Given the description of an element on the screen output the (x, y) to click on. 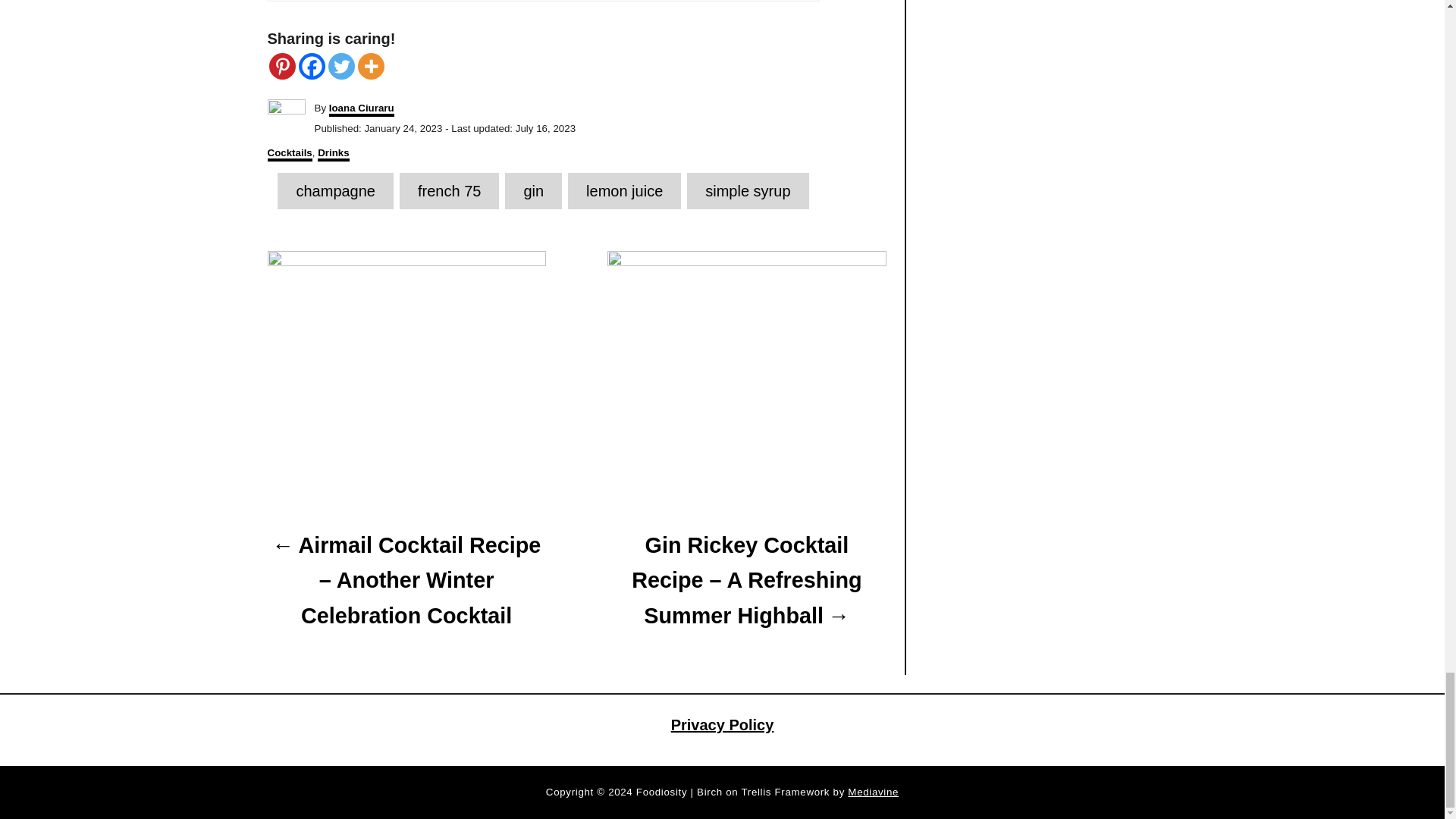
More (371, 66)
Twitter (340, 66)
Facebook (311, 66)
Pinterest (281, 66)
